Given the description of an element on the screen output the (x, y) to click on. 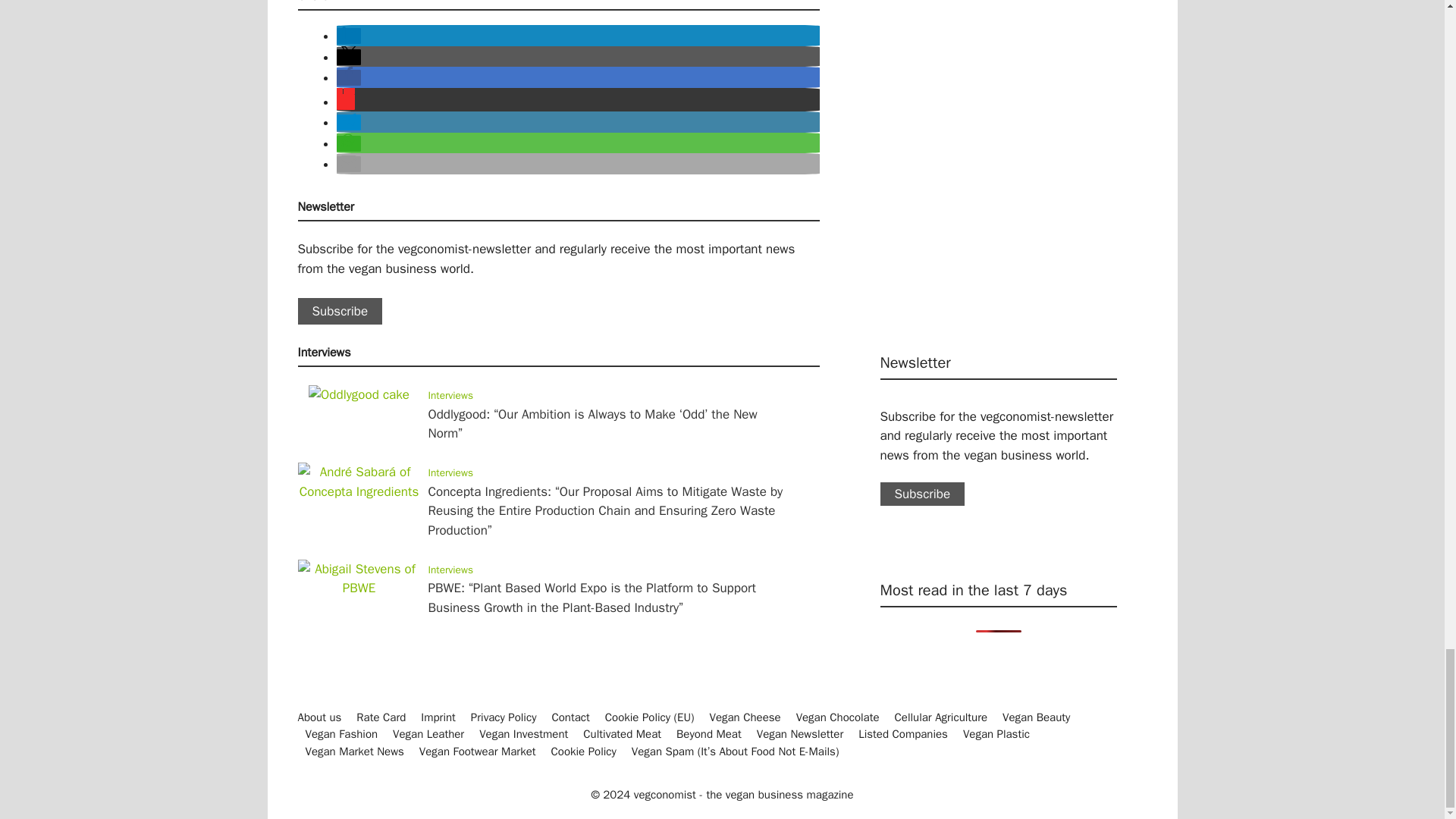
Share on X (348, 57)
Share on Telegram (348, 122)
Share on Facebook (348, 77)
Send by email (348, 163)
Share on LinkedIn (348, 35)
Share on Flipboard (345, 101)
Share on Whatsapp (348, 143)
